Given the description of an element on the screen output the (x, y) to click on. 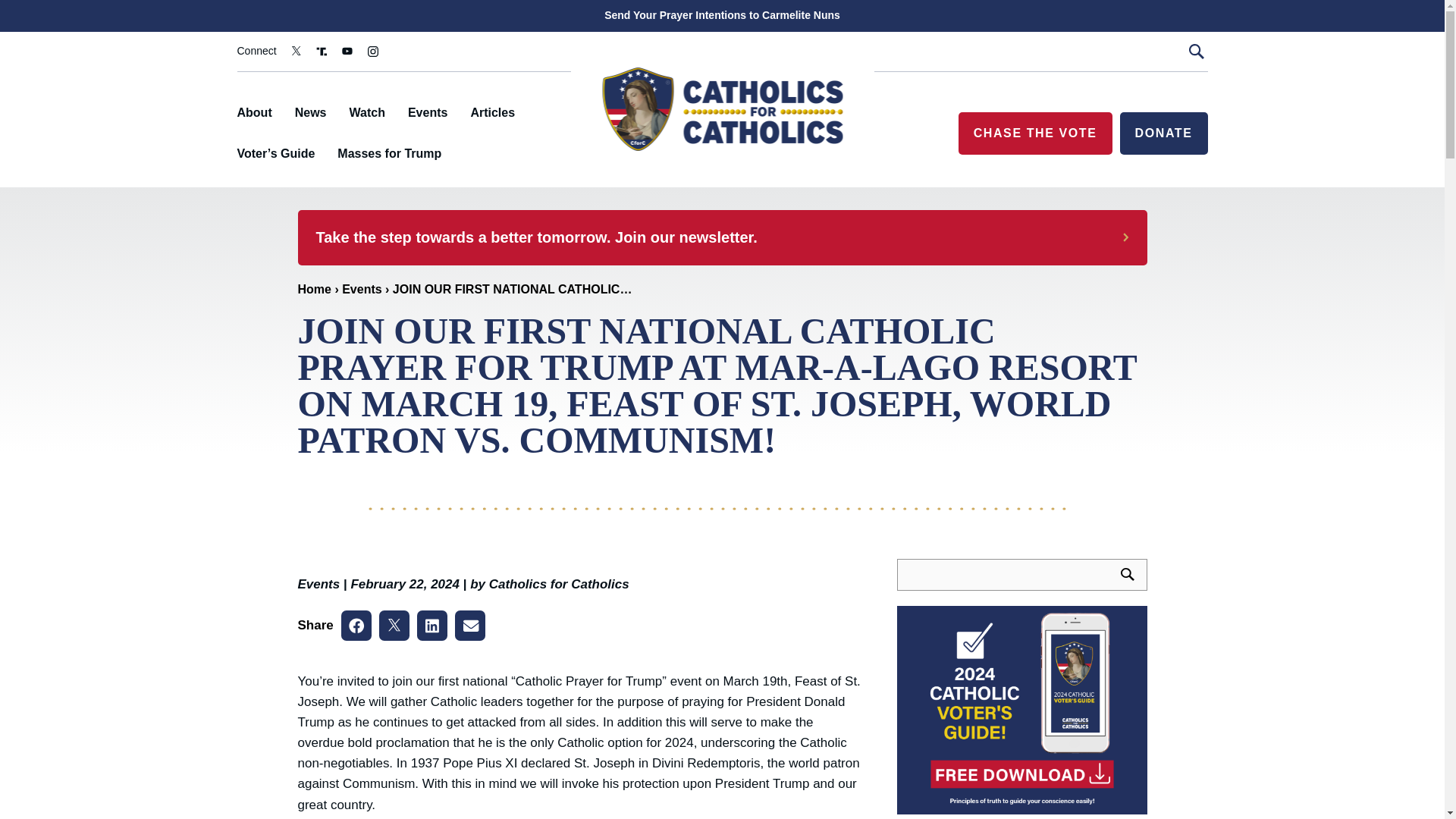
Watch (366, 112)
News (310, 112)
DONATE (1163, 133)
Masses for Trump (389, 153)
Send Your Prayer Intentions to Carmelite Nuns (721, 15)
Events (426, 112)
CHASE THE VOTE (1035, 133)
Articles (492, 112)
Events (318, 584)
Events (361, 287)
Home (313, 287)
About (252, 112)
